Given the description of an element on the screen output the (x, y) to click on. 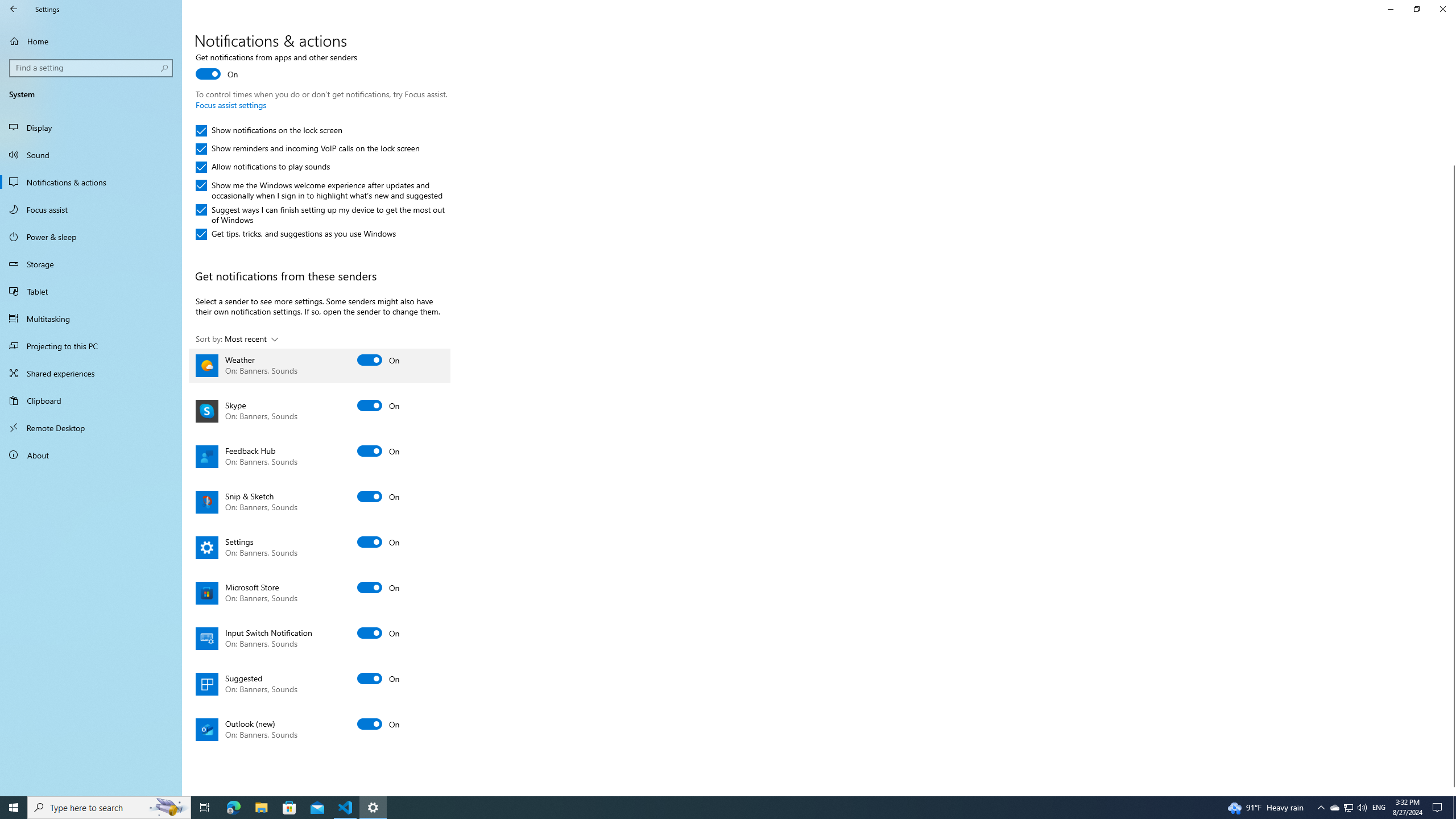
Get notifications from apps and other senders (275, 66)
Home (91, 40)
Tablet (91, 290)
Microsoft Edge (233, 807)
Task View (204, 807)
Display (91, 126)
Projecting to this PC (91, 345)
Search highlights icon opens search home window (167, 807)
Power & sleep (91, 236)
About (91, 454)
Weather (319, 365)
Q2790: 100% (1361, 807)
Notifications & actions (91, 181)
File Explorer (261, 807)
Get tips, tricks, and suggestions as you use Windows (295, 234)
